Given the description of an element on the screen output the (x, y) to click on. 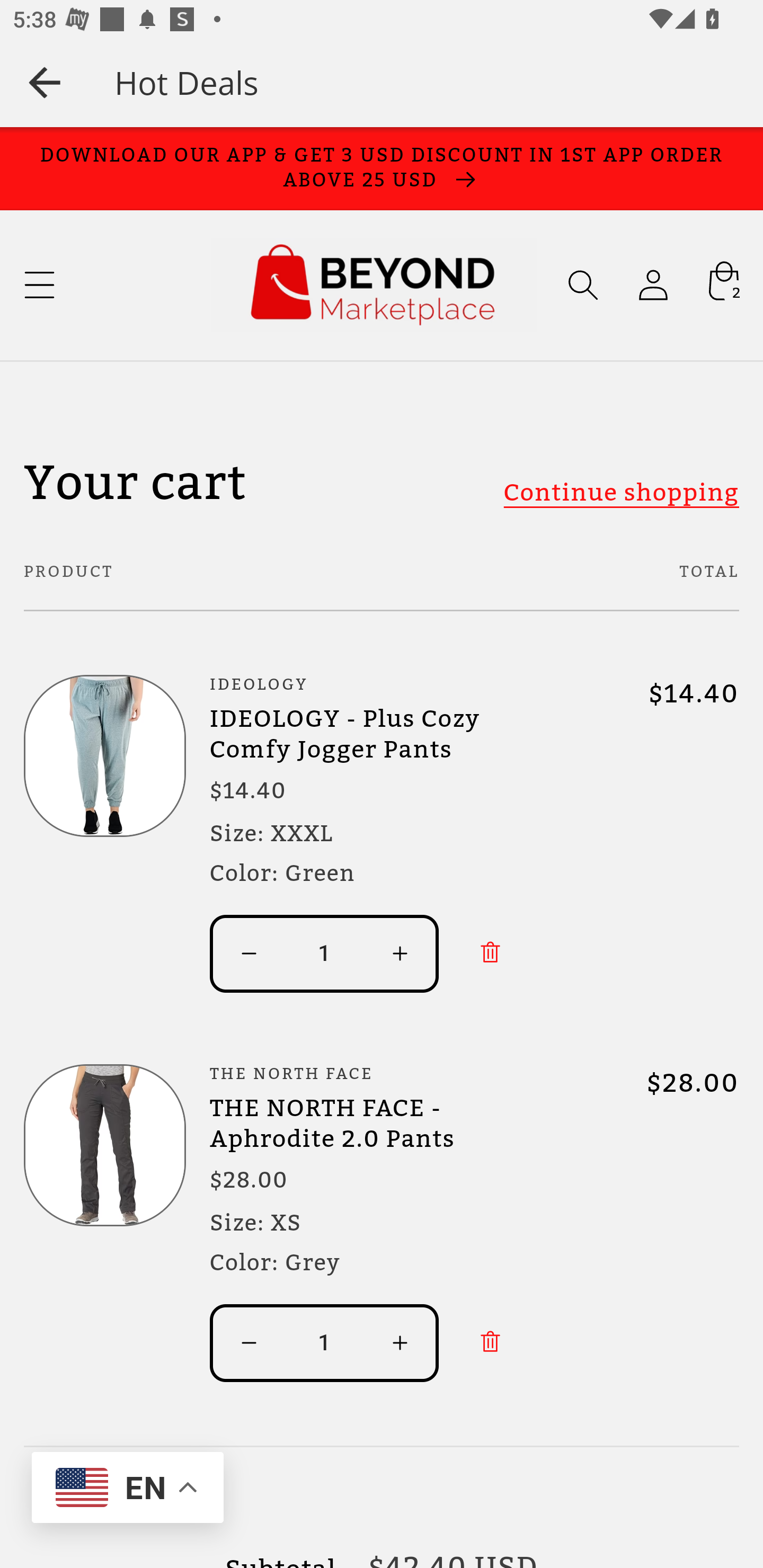
Navigate up (44, 82)
Beyond Marketplace (373, 284)
Menu (39, 285)
Search (583, 285)
Log in (653, 285)
Cart 2 items Cart 2 items (723, 285)
Continue shopping (620, 492)
IDEOLOGY - Plus Cozy Comfy Jogger Pants (381, 734)
THE NORTH FACE - Aphrodite 2.0 Pants (381, 1123)
